Given the description of an element on the screen output the (x, y) to click on. 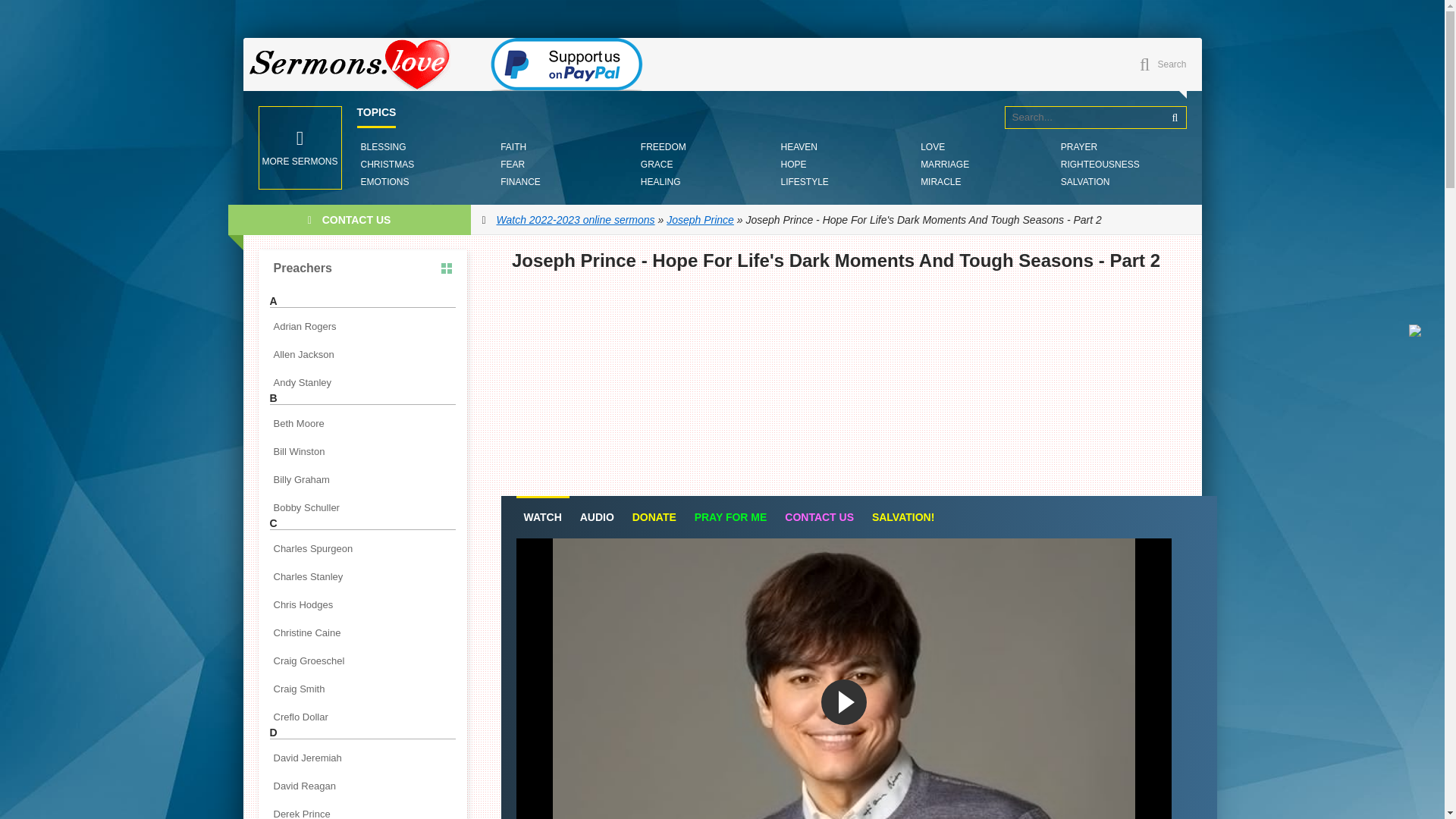
HEALING (660, 181)
FEAR (512, 164)
Beth Moore (362, 423)
Andy Stanley (362, 382)
Bobby Schuller (362, 506)
EMOTIONS (384, 181)
Billy Graham (362, 479)
PRAYER (1078, 146)
HEAVEN (798, 146)
SALVATION! (903, 517)
Bill Winston (362, 451)
BLESSING (382, 146)
Search (1174, 117)
LIFESTYLE (803, 181)
MIRACLE (940, 181)
